Given the description of an element on the screen output the (x, y) to click on. 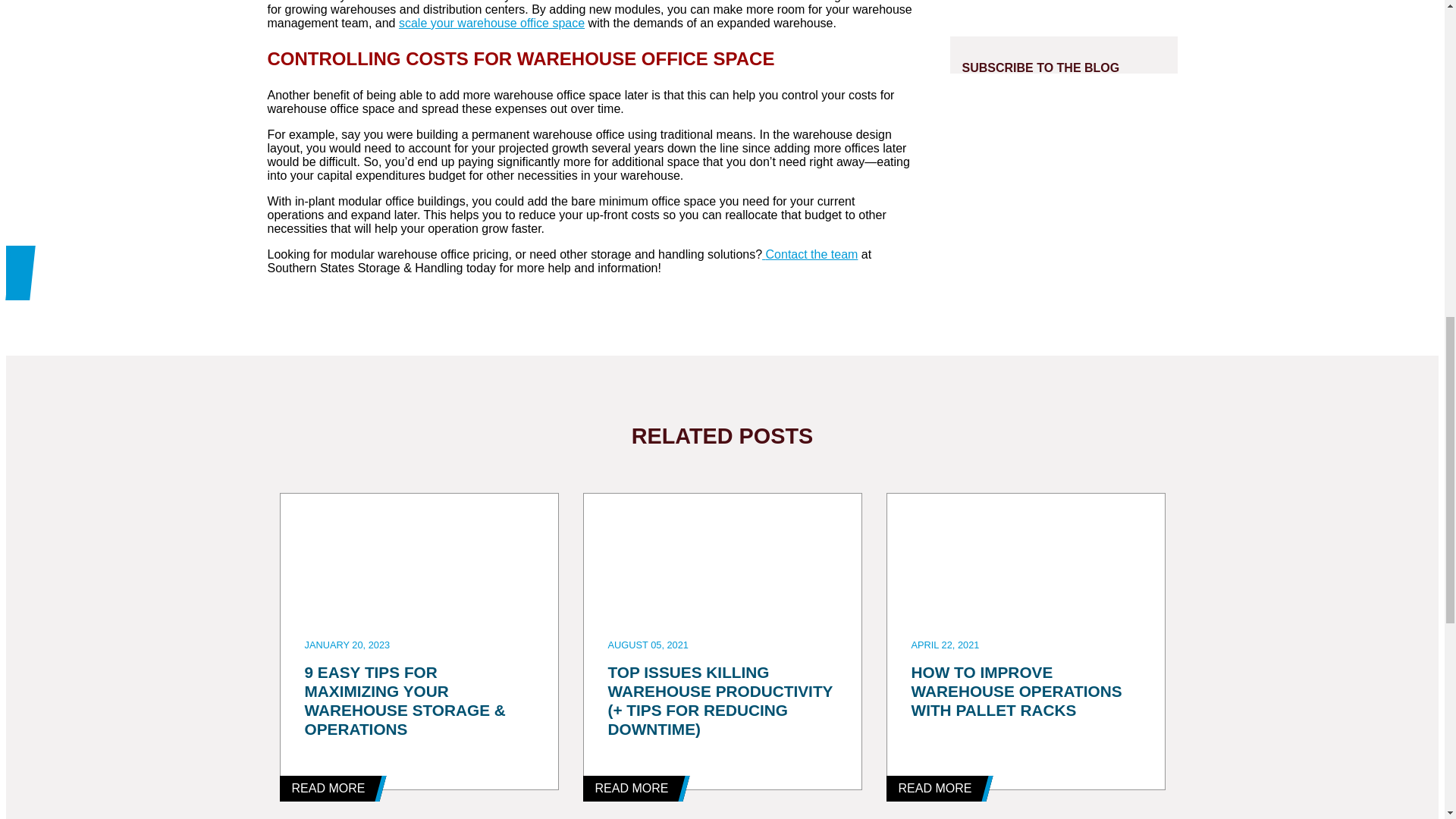
Contact the team (809, 253)
scale your warehouse office space (491, 22)
